Given the description of an element on the screen output the (x, y) to click on. 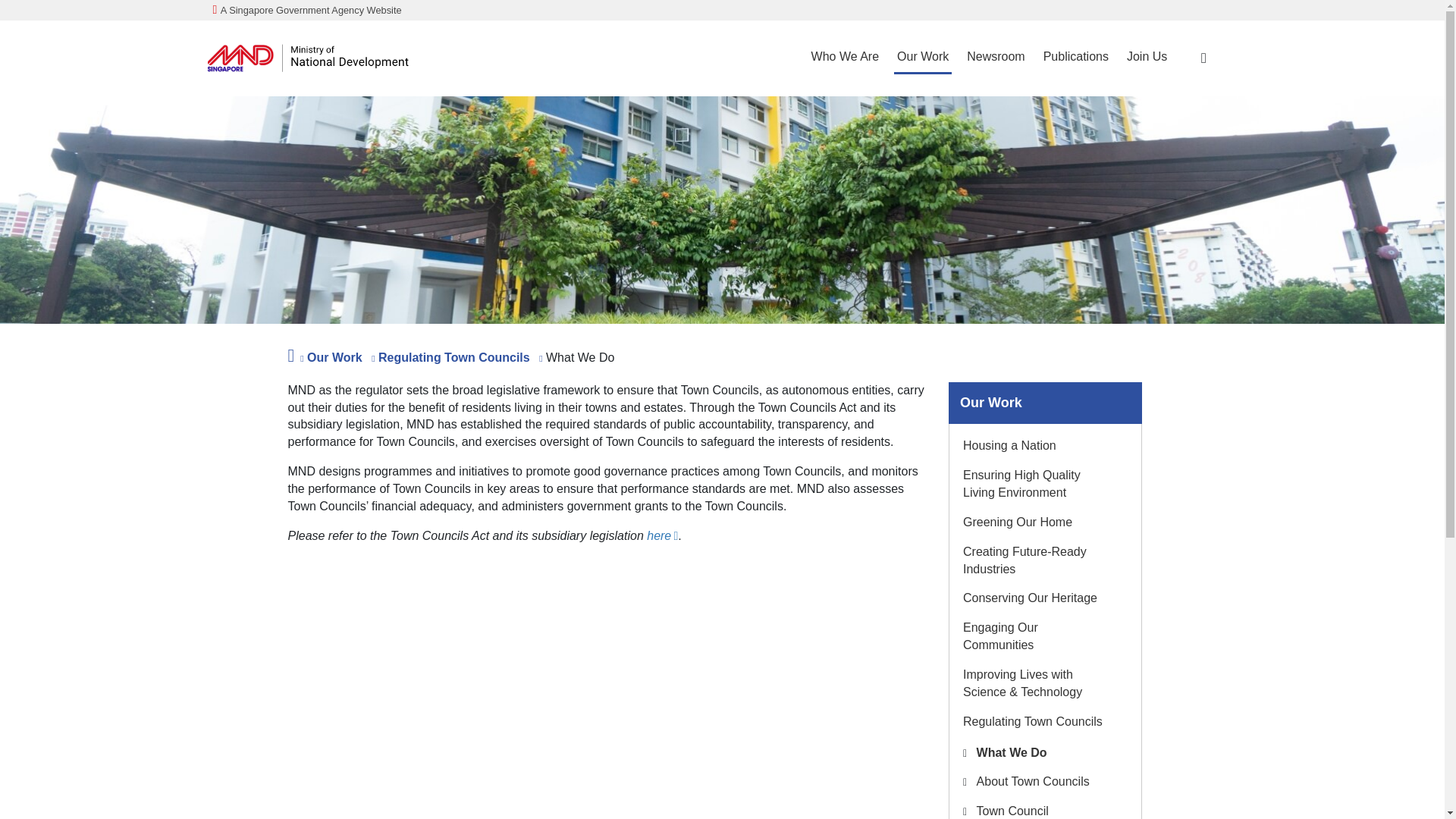
Publications (1076, 58)
A Singapore Government Agency Website (306, 9)
Join Us (1147, 58)
Our Work (922, 58)
Our Work (922, 58)
Who We Are (845, 58)
Newsroom (995, 58)
Who We Are (845, 58)
